Given the description of an element on the screen output the (x, y) to click on. 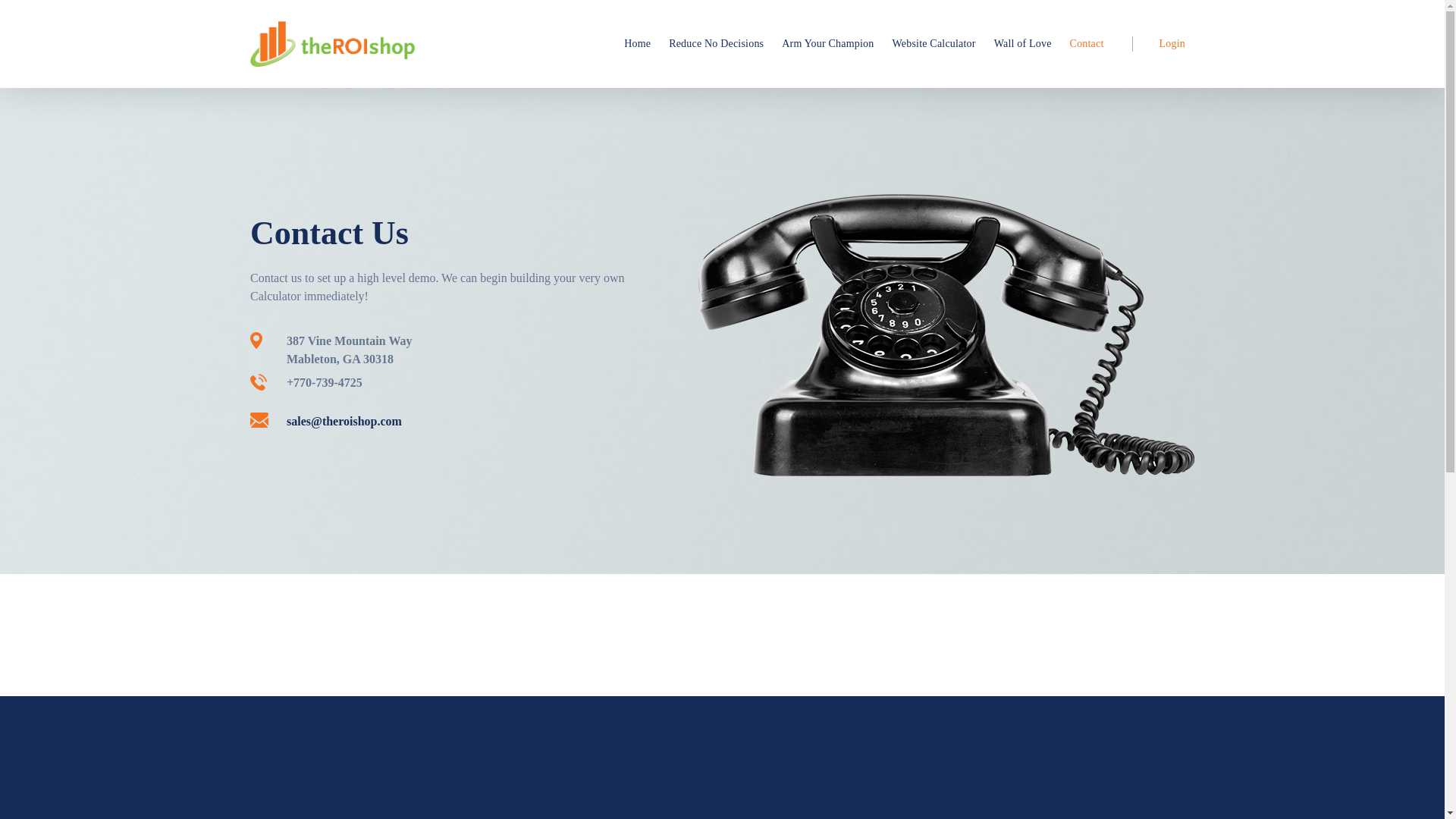
Login (1162, 43)
Reduce No Decisions (716, 43)
Home (636, 43)
Wall of Love (1023, 43)
Website Calculator (933, 43)
Contact (1087, 43)
Arm Your Champion (827, 43)
